Given the description of an element on the screen output the (x, y) to click on. 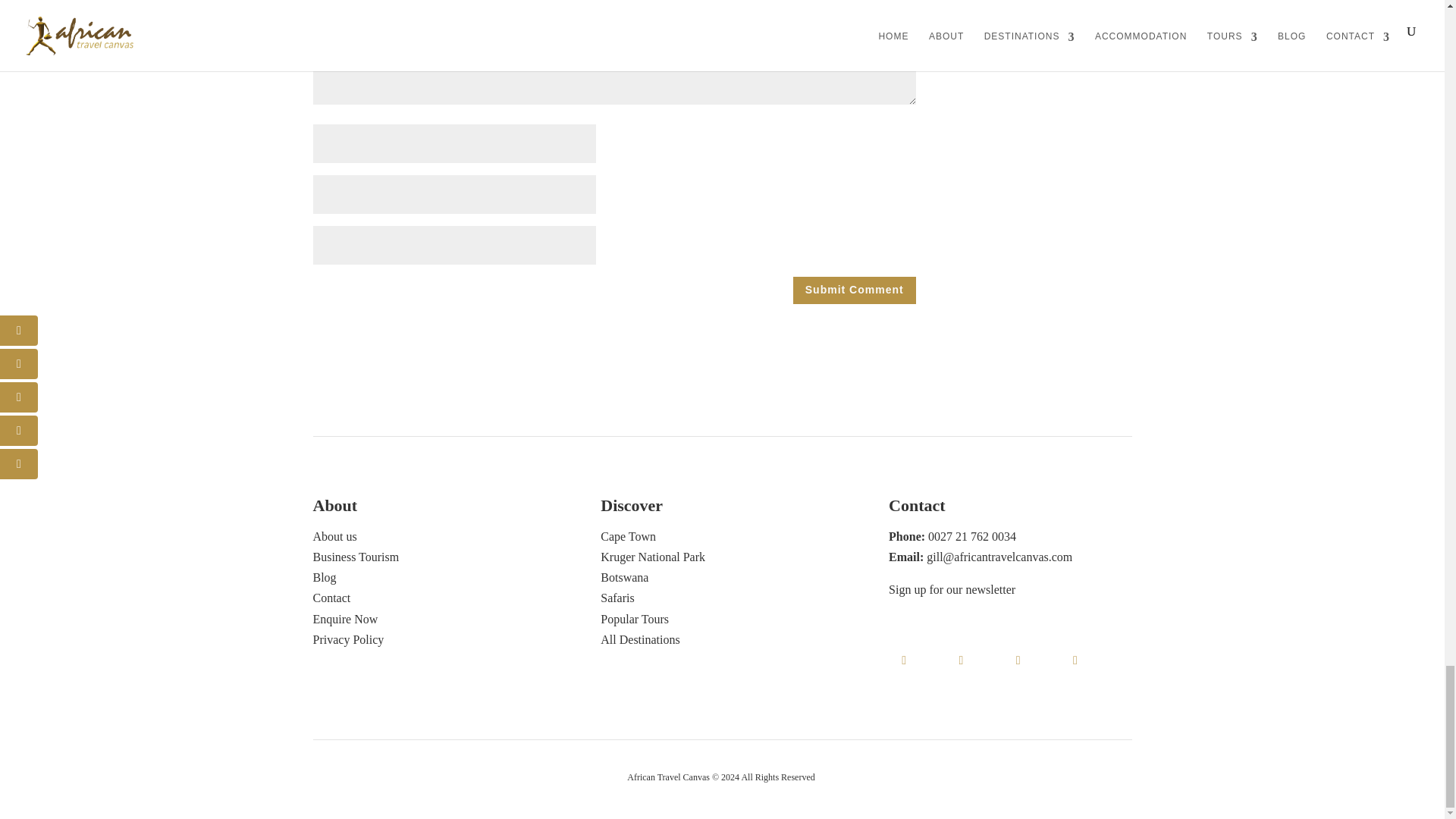
Submit Comment (854, 289)
